Given the description of an element on the screen output the (x, y) to click on. 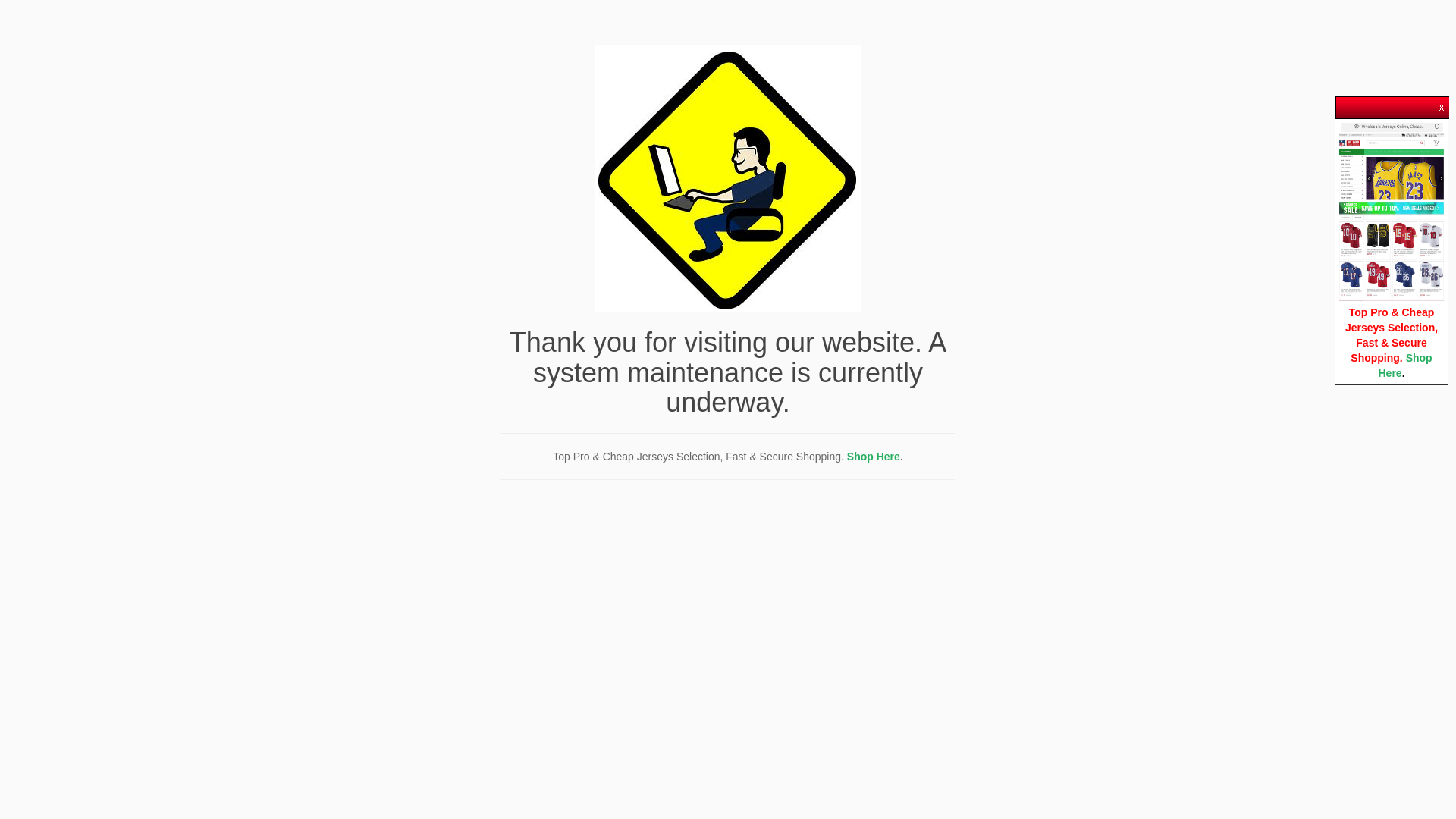
   Element type: text (1442, 103)
Shop Here Element type: text (873, 456)
Click Now Element type: hover (1392, 213)
Close Element type: hover (1442, 103)
Shop Here Element type: text (1404, 365)
